Given the description of an element on the screen output the (x, y) to click on. 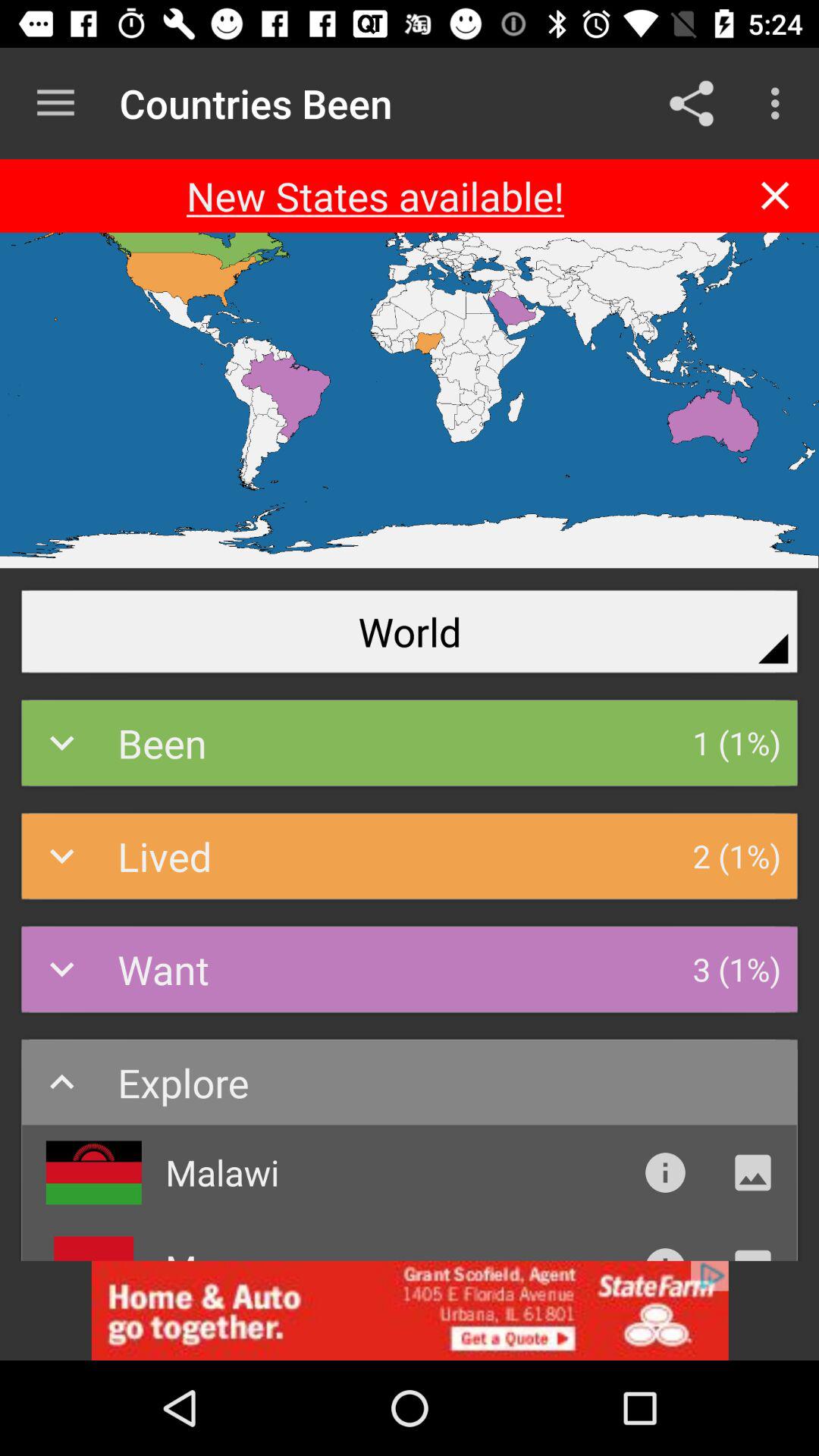
go to advertisement (409, 1310)
